Given the description of an element on the screen output the (x, y) to click on. 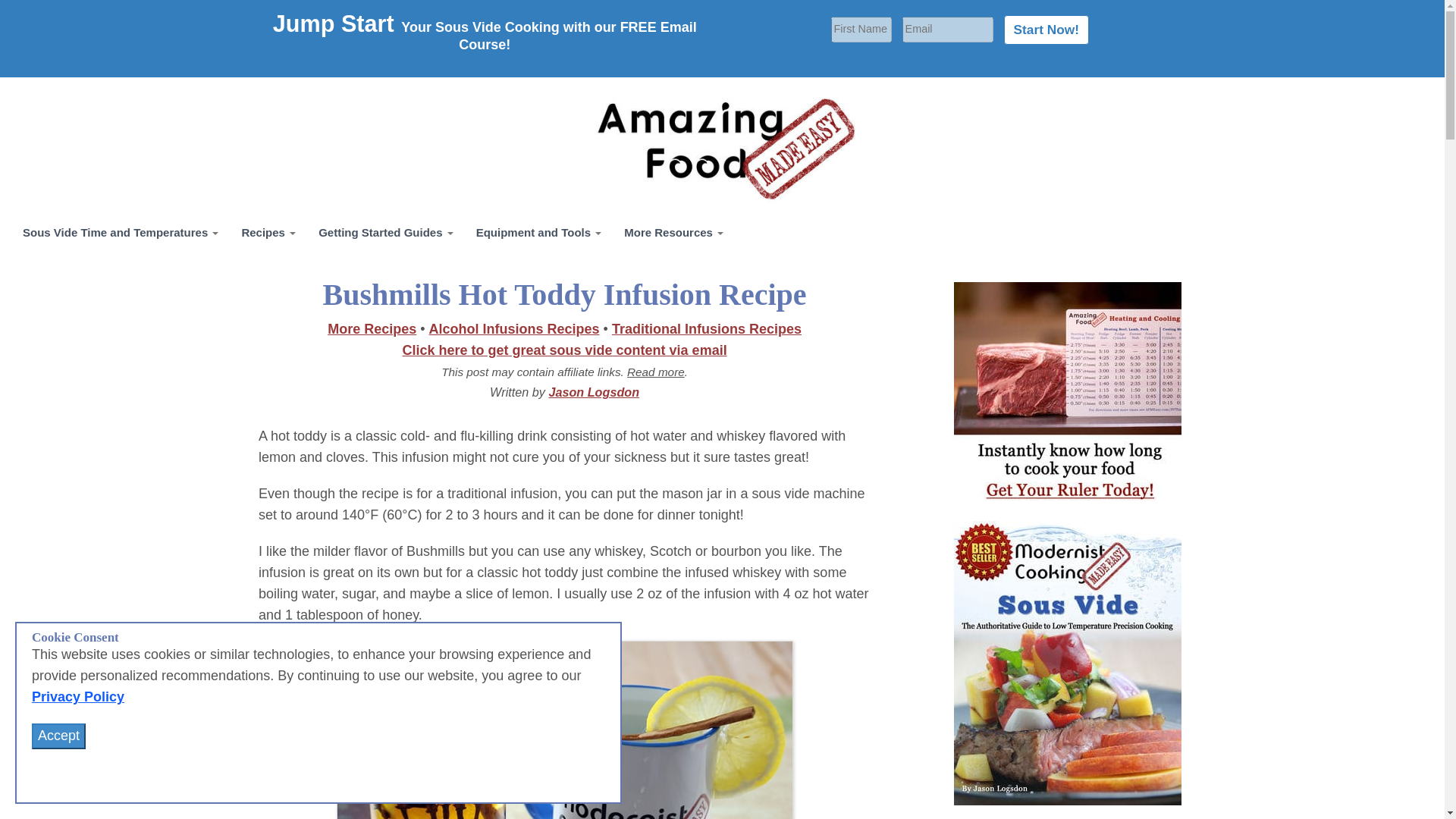
Hot toddy infused bushmills (564, 729)
Equipment (538, 232)
Start Now! (1046, 30)
Equipment and Tools (538, 232)
Recipes (268, 232)
Amazing food made easy logo trans.png (722, 149)
Sous Vide Time and Temperatures (120, 232)
Getting Started Guides (385, 232)
Start Now! (1046, 30)
More Resources (673, 232)
Sous Vide Times and Temps (120, 232)
Sous vide book cover large (1066, 662)
Recipes (268, 232)
Beginners Guide to Modernist Cooking (385, 232)
